Given the description of an element on the screen output the (x, y) to click on. 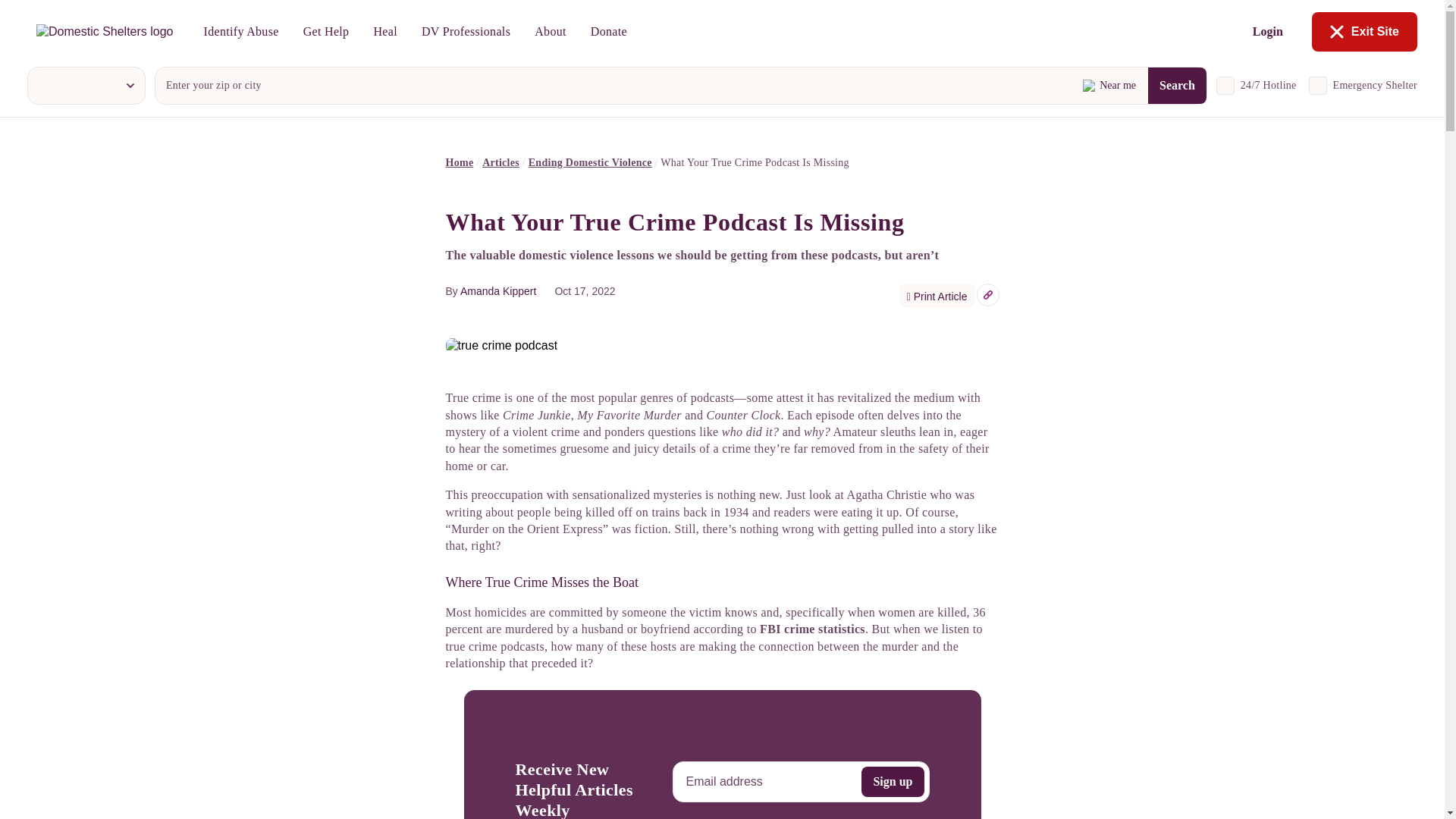
on (1224, 85)
Sign up (892, 781)
on (1317, 85)
